Given the description of an element on the screen output the (x, y) to click on. 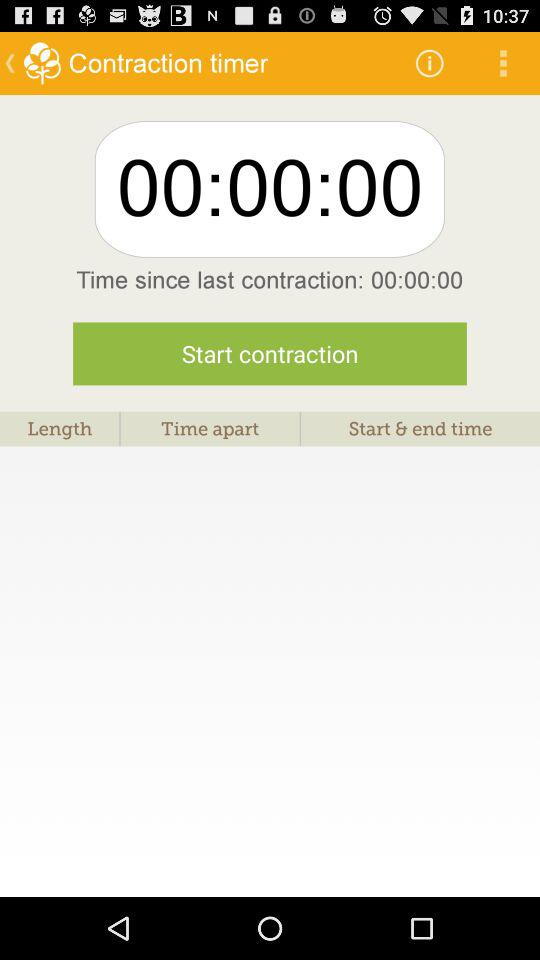
open the app to the right of contraction timer icon (429, 62)
